Given the description of an element on the screen output the (x, y) to click on. 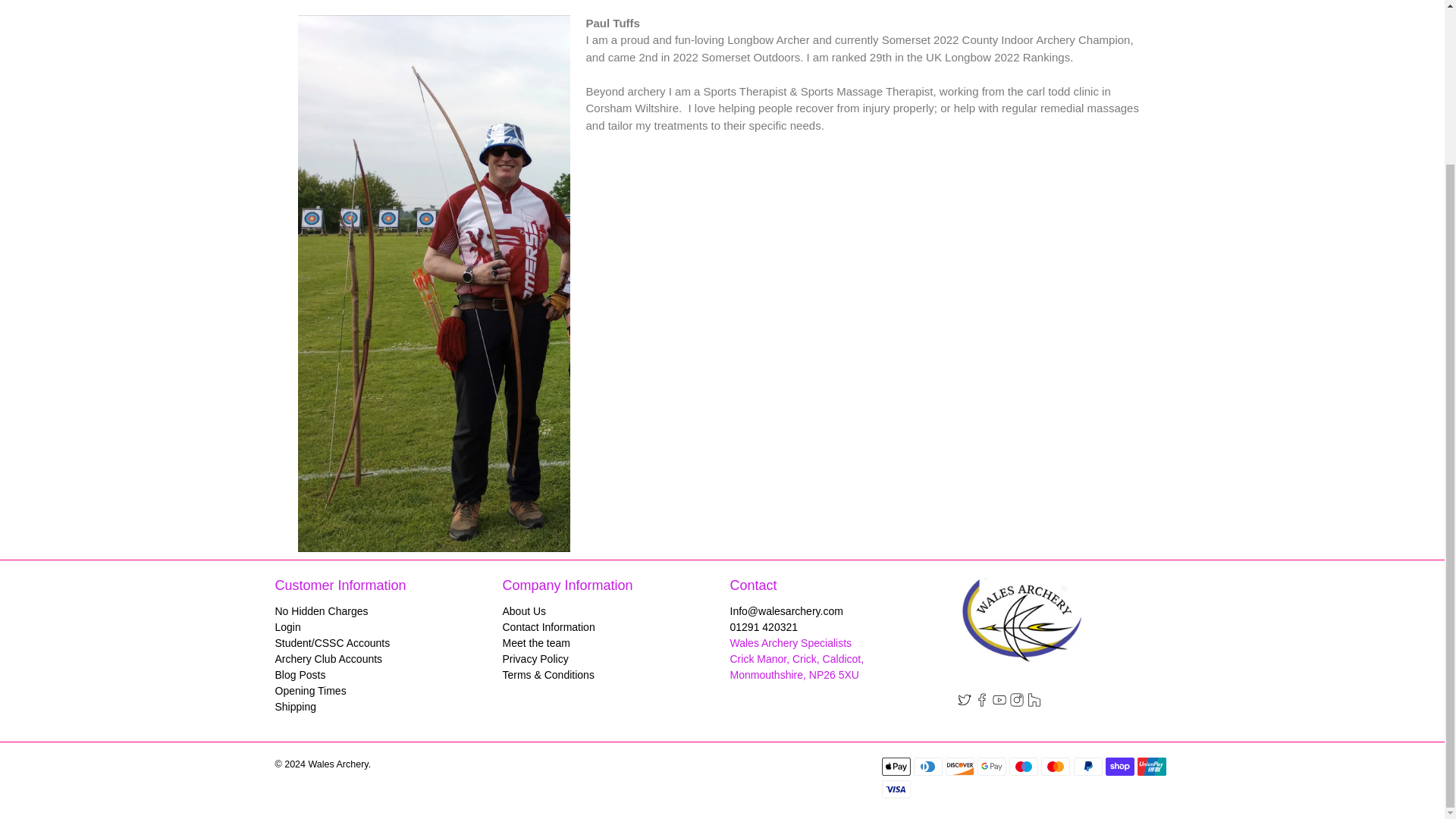
Apple Pay (895, 766)
Google Pay (991, 766)
PayPal (1088, 766)
Visa (895, 789)
Wales Archery (1020, 626)
Discover (959, 766)
Union Pay (1151, 766)
tel:01291 420321 (763, 626)
Shop Pay (1119, 766)
Wales Archery on Twitter (963, 702)
Wales Archery on Facebook (981, 702)
Diners Club (928, 766)
Wales Archery on YouTube (998, 702)
Maestro (1023, 766)
Mastercard (1055, 766)
